Given the description of an element on the screen output the (x, y) to click on. 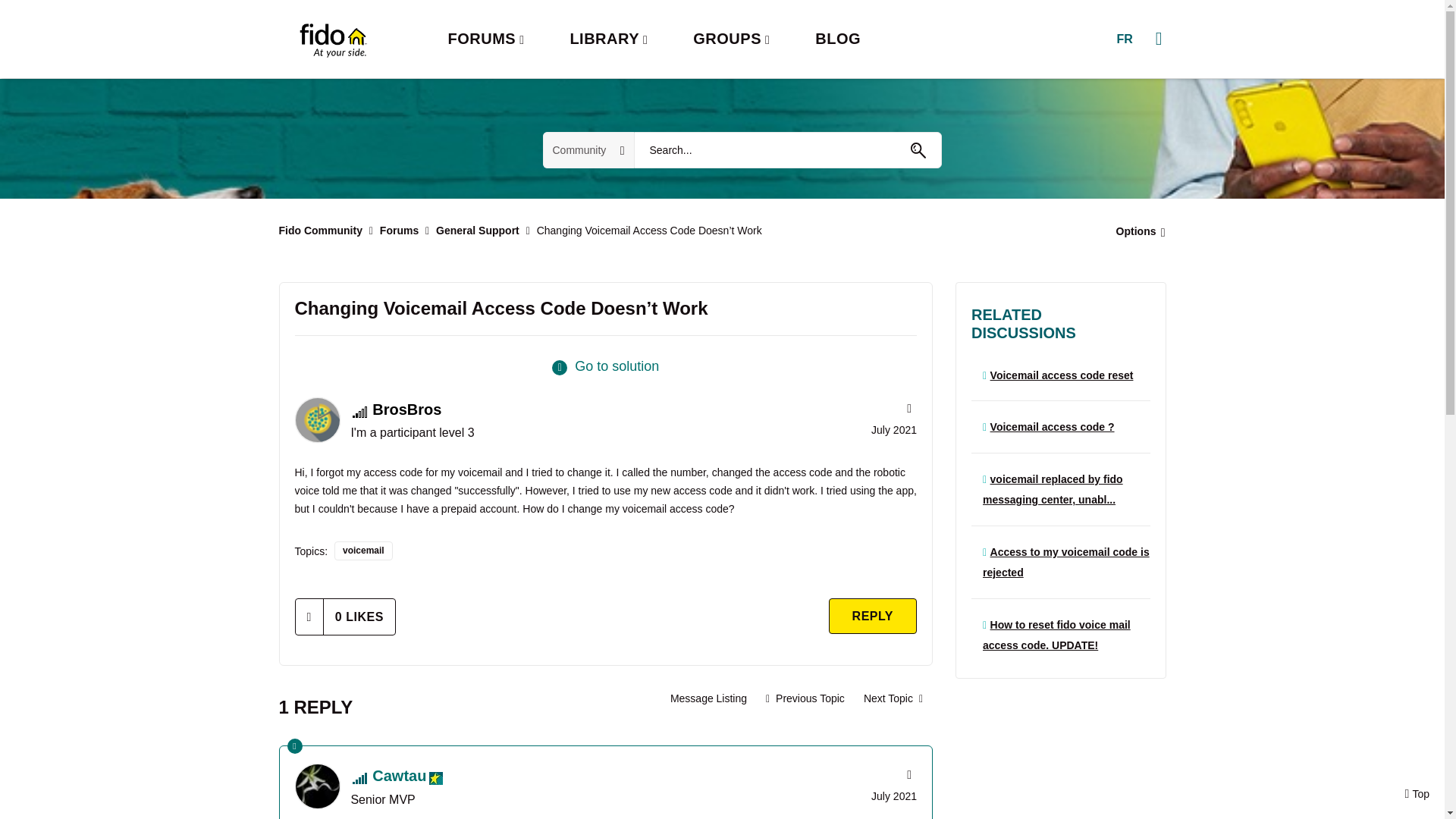
Fido Community (320, 230)
Forums (399, 230)
LIBRARY (608, 39)
FR (1124, 38)
General Support (477, 230)
GROUPS (730, 39)
BrosBros (316, 420)
Show option menu (1136, 230)
BLOG (837, 39)
Search Granularity (588, 149)
